Given the description of an element on the screen output the (x, y) to click on. 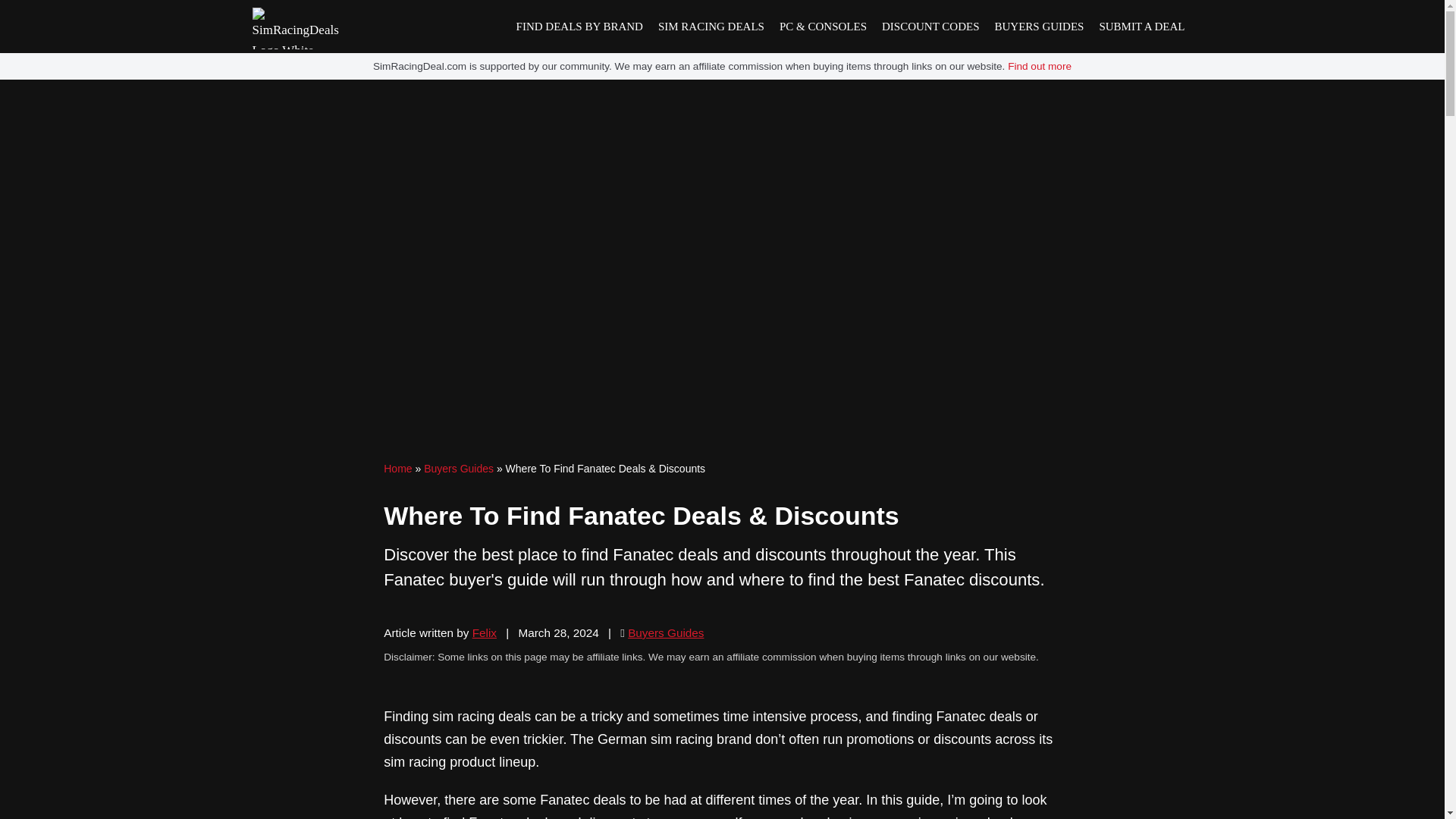
DISCOUNT CODES (931, 26)
FIND DEALS BY BRAND (579, 26)
SIM RACING DEALS (710, 26)
Skip to content (11, 31)
SUBMIT A DEAL (1141, 26)
BUYERS GUIDES (1038, 26)
Posts written by Felix (483, 632)
